Given the description of an element on the screen output the (x, y) to click on. 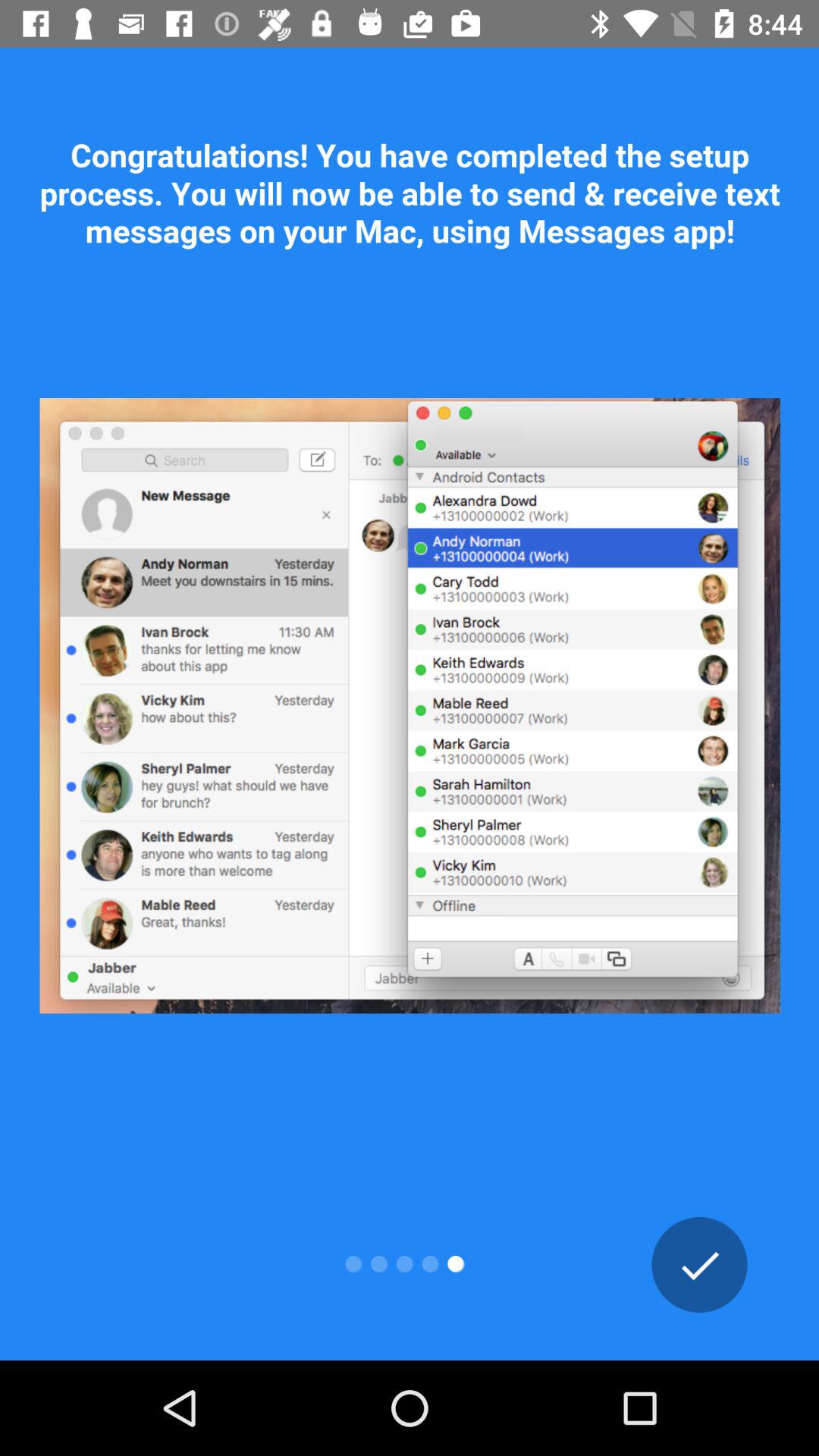
save button (699, 1264)
